Given the description of an element on the screen output the (x, y) to click on. 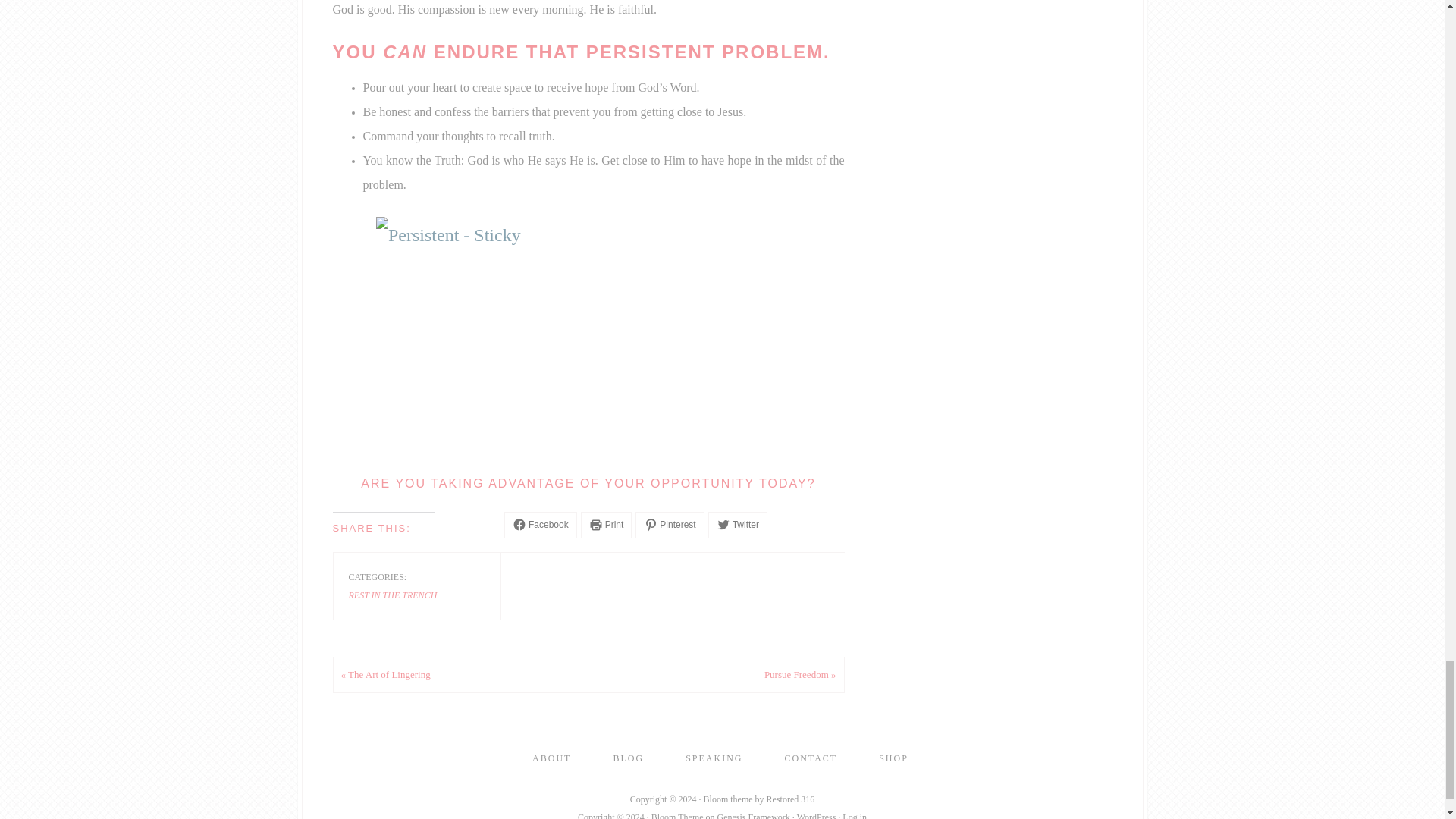
BLOG (628, 758)
Click to print (605, 524)
Pinterest (668, 524)
SHOP (893, 758)
REST IN THE TRENCH (393, 594)
ABOUT (551, 758)
Click to share on Twitter (737, 524)
Click to share on Pinterest (668, 524)
CONTACT (810, 758)
Bloom theme (727, 798)
